Given the description of an element on the screen output the (x, y) to click on. 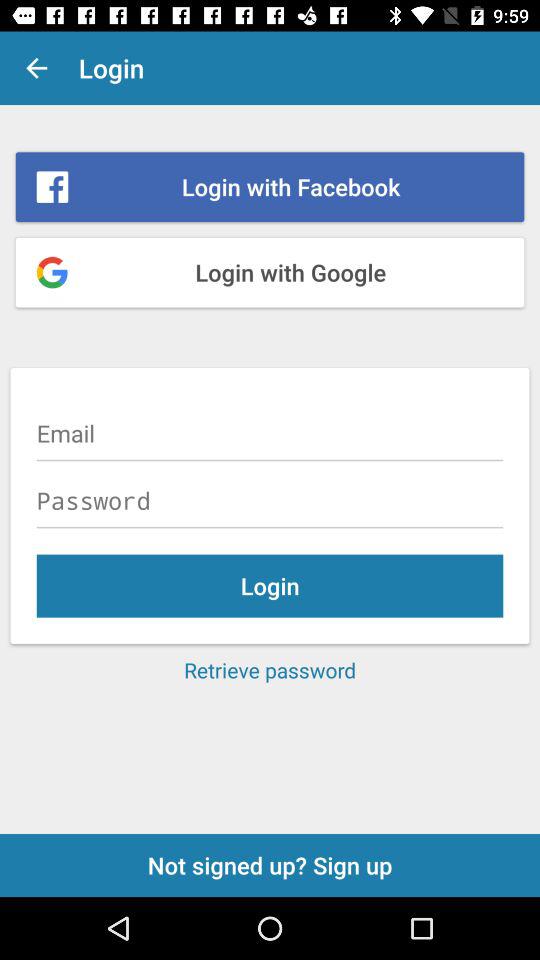
enter username (269, 433)
